Given the description of an element on the screen output the (x, y) to click on. 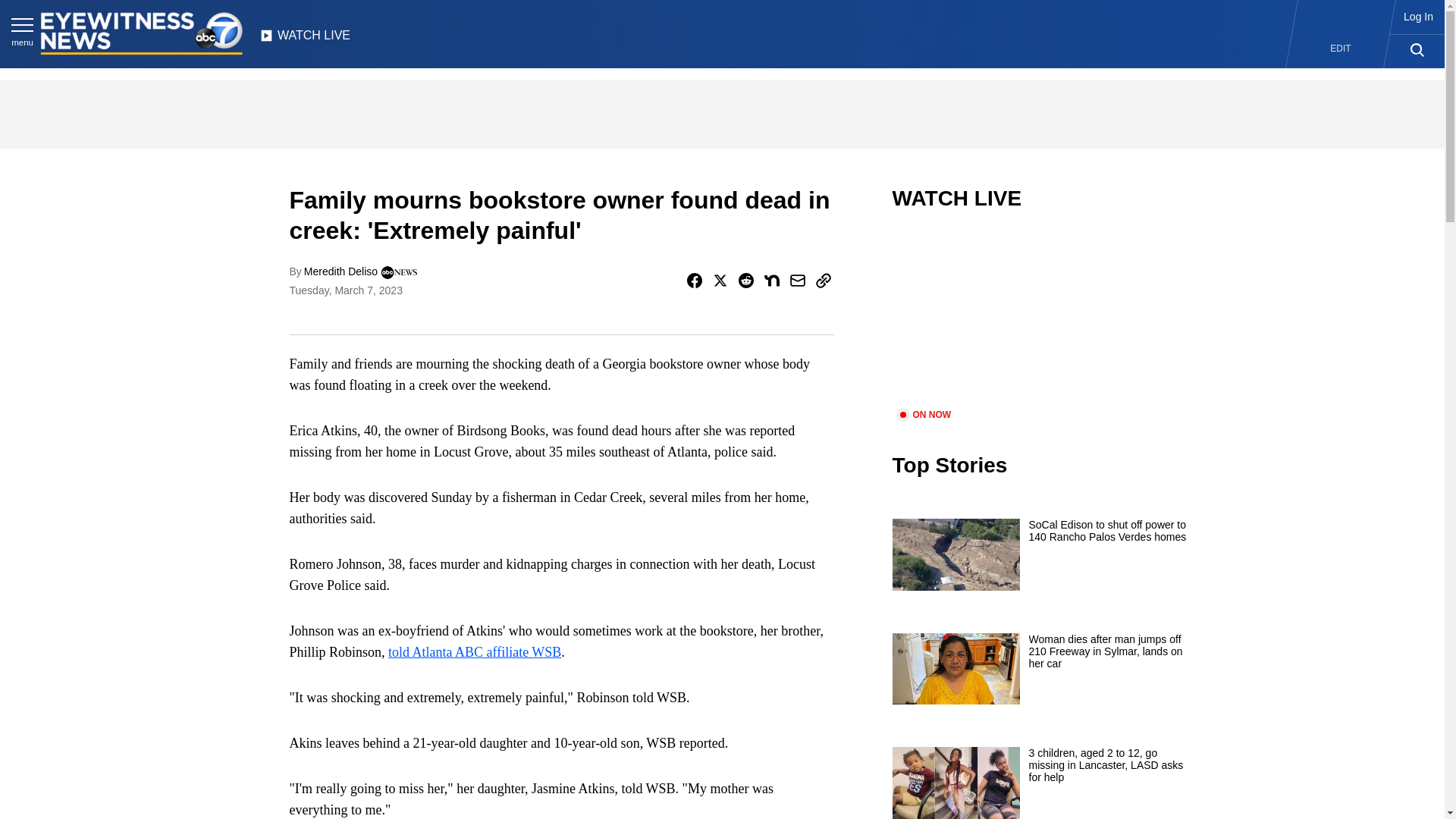
EDIT (1340, 48)
WATCH LIVE (305, 39)
video.title (1043, 318)
